Given the description of an element on the screen output the (x, y) to click on. 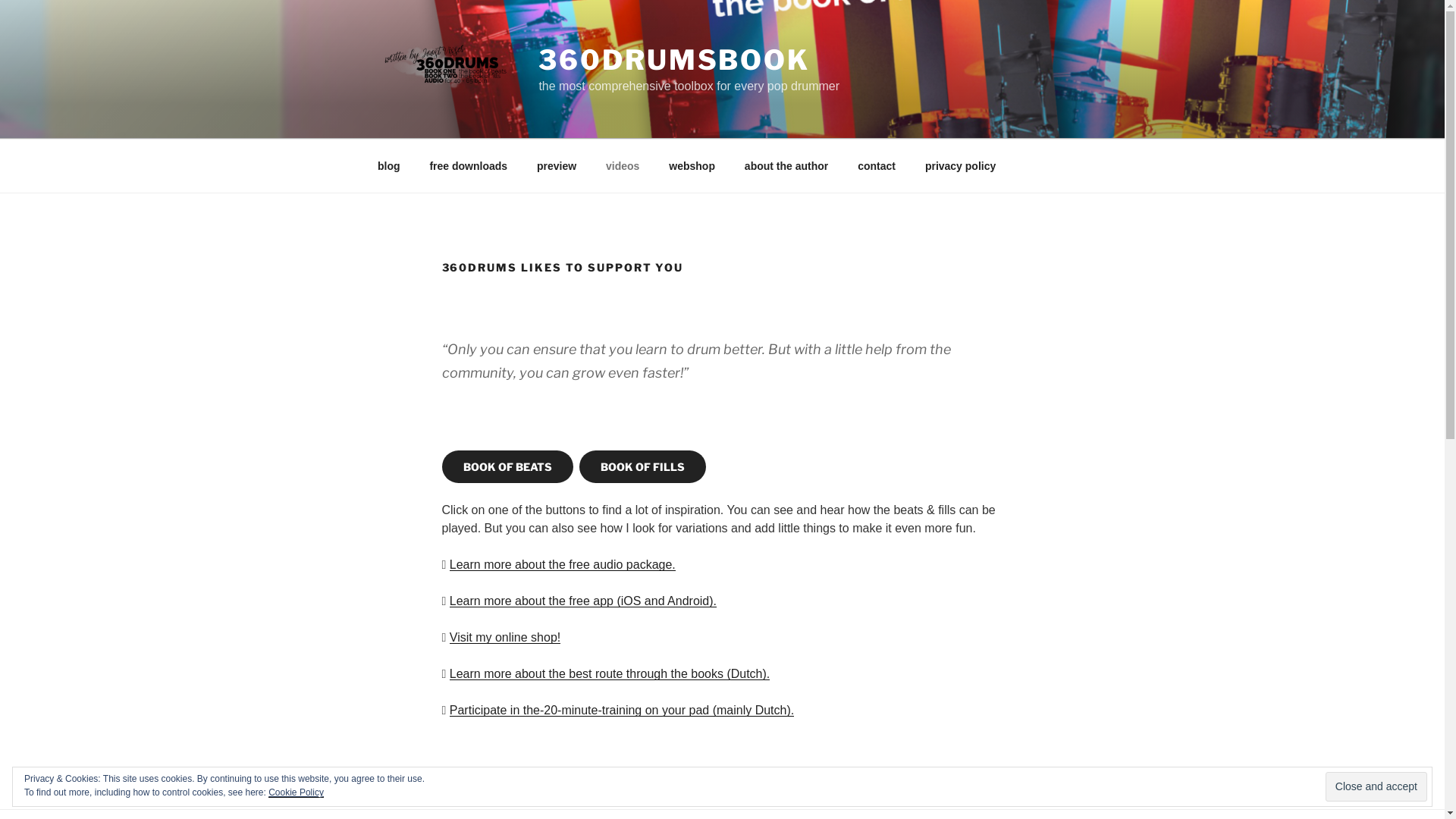
BOOK OF FILLS Element type: text (642, 466)
videos Element type: text (622, 165)
BOOK OF BEATS Element type: text (506, 466)
Learn more about the best route through the books (Dutch). Element type: text (609, 673)
Learn more about the free app (iOS and Android). Element type: text (582, 600)
privacy policy Element type: text (959, 165)
contact Element type: text (876, 165)
blog Element type: text (388, 165)
Cookie Policy Element type: text (295, 792)
free downloads Element type: text (468, 165)
Close and accept Element type: text (1376, 786)
Visit my online shop! Element type: text (504, 636)
about the author Element type: text (785, 165)
Learn more about the free audio package. Element type: text (562, 564)
360DRUMSBOOK Element type: text (673, 59)
preview Element type: text (556, 165)
webshop Element type: text (691, 165)
